Given the description of an element on the screen output the (x, y) to click on. 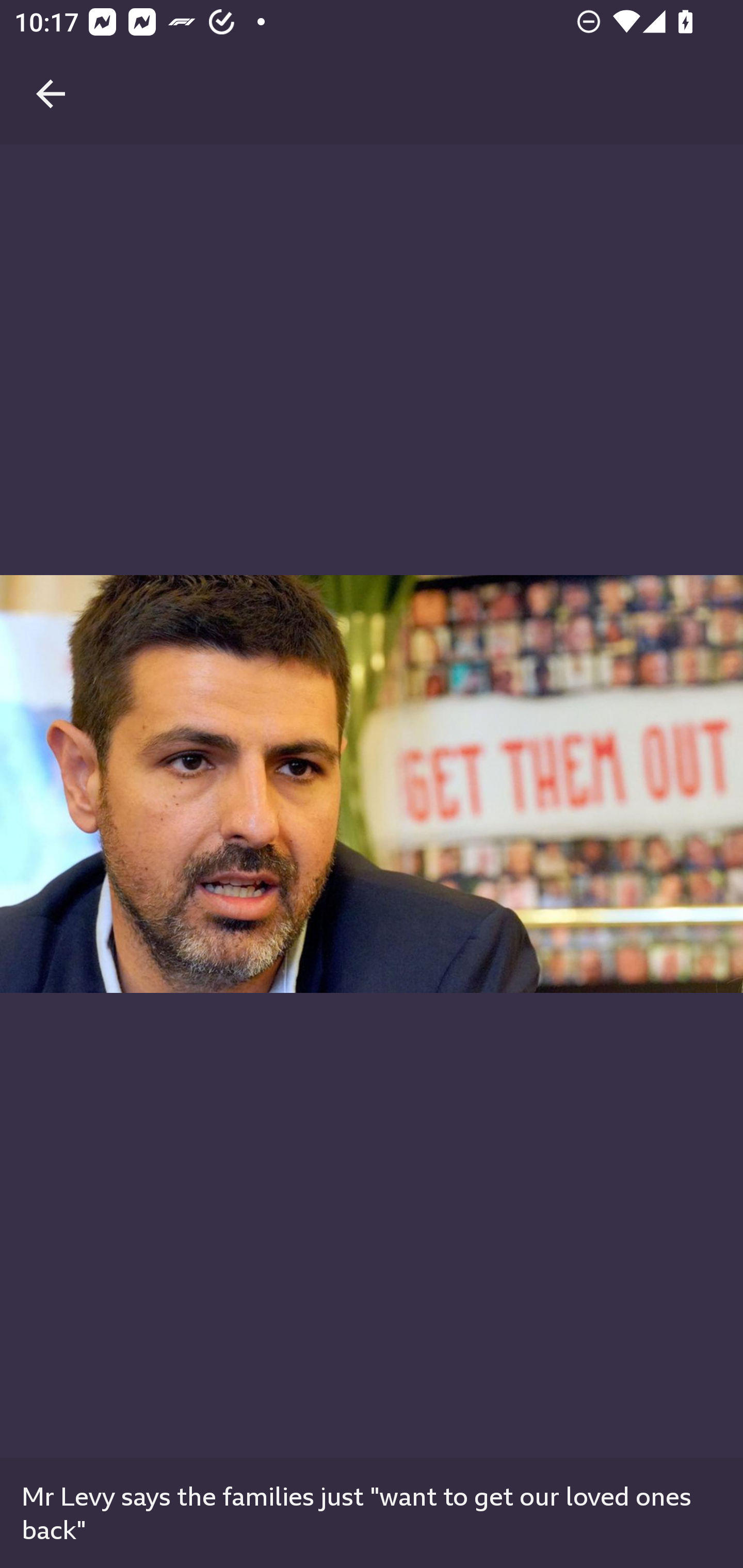
Back (50, 72)
